Given the description of an element on the screen output the (x, y) to click on. 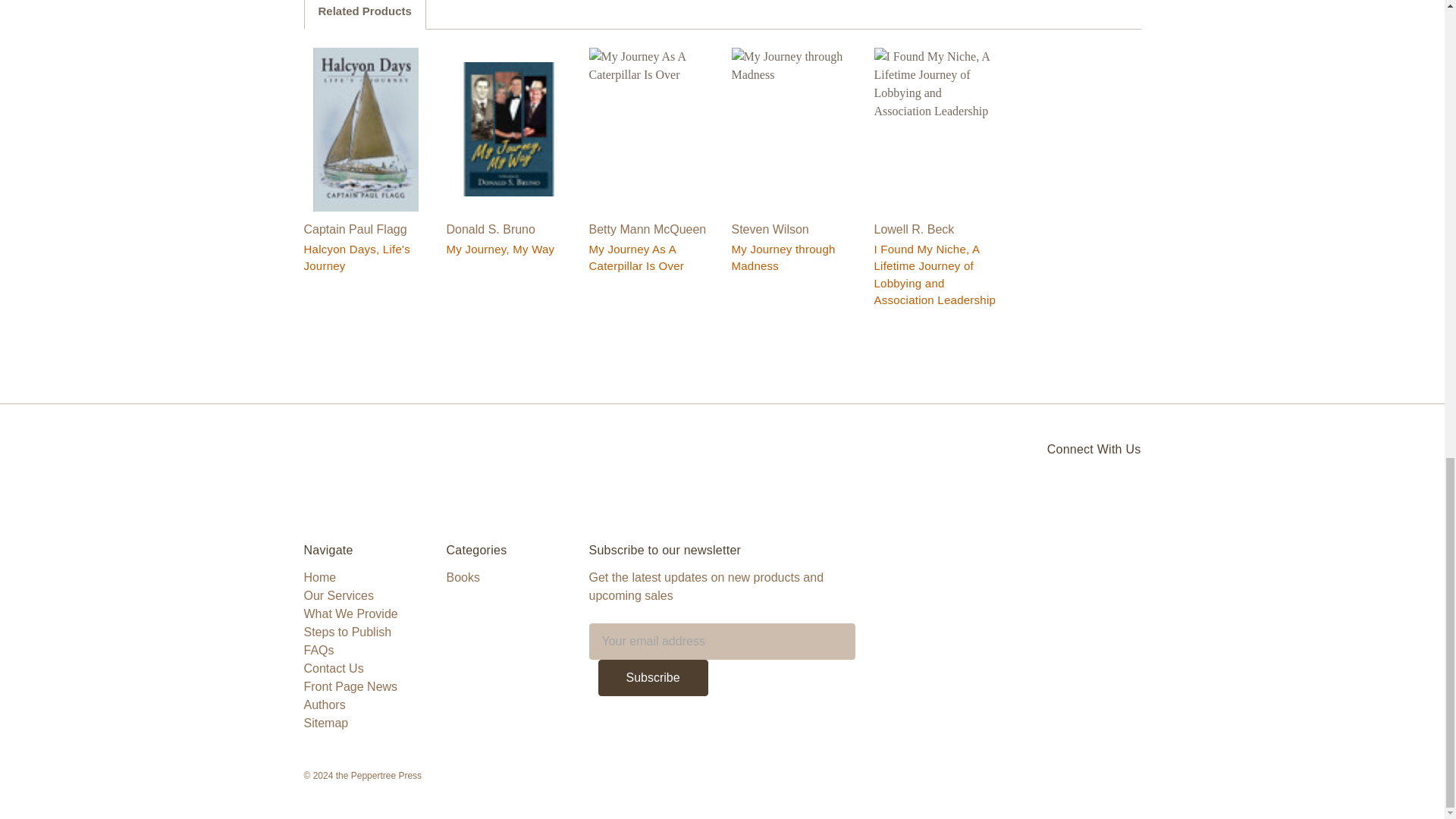
My Journey As A Caterpillar Is Over (650, 128)
My Journey through Madness (793, 128)
Halcyon Days, Life's Journey (365, 128)
My Journey, My Way (507, 128)
Subscribe (651, 678)
